Given the description of an element on the screen output the (x, y) to click on. 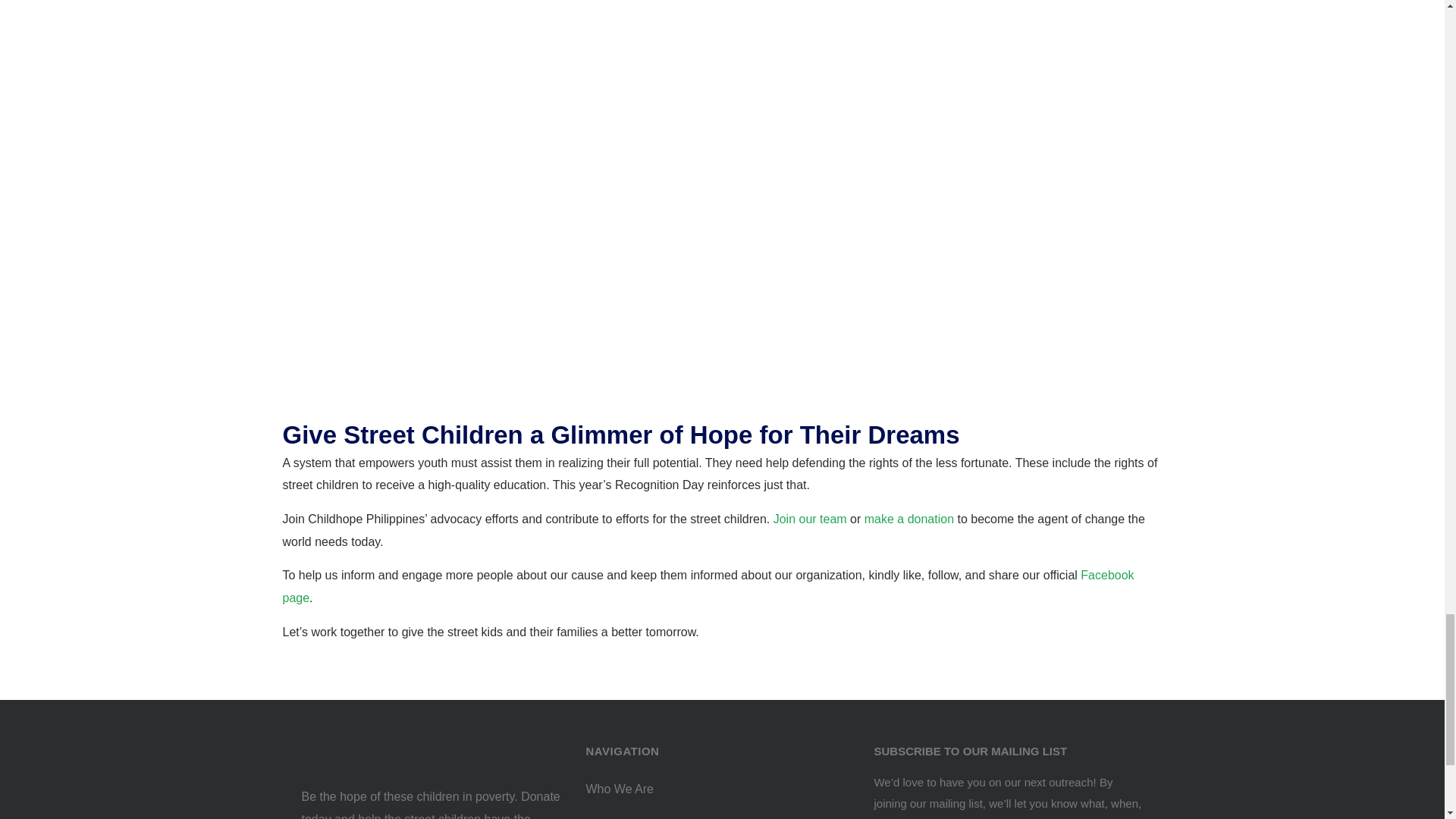
Facebook page (708, 586)
Join our team (810, 518)
Meet the Team (714, 812)
Who We Are (714, 789)
make a donation (908, 518)
